Given the description of an element on the screen output the (x, y) to click on. 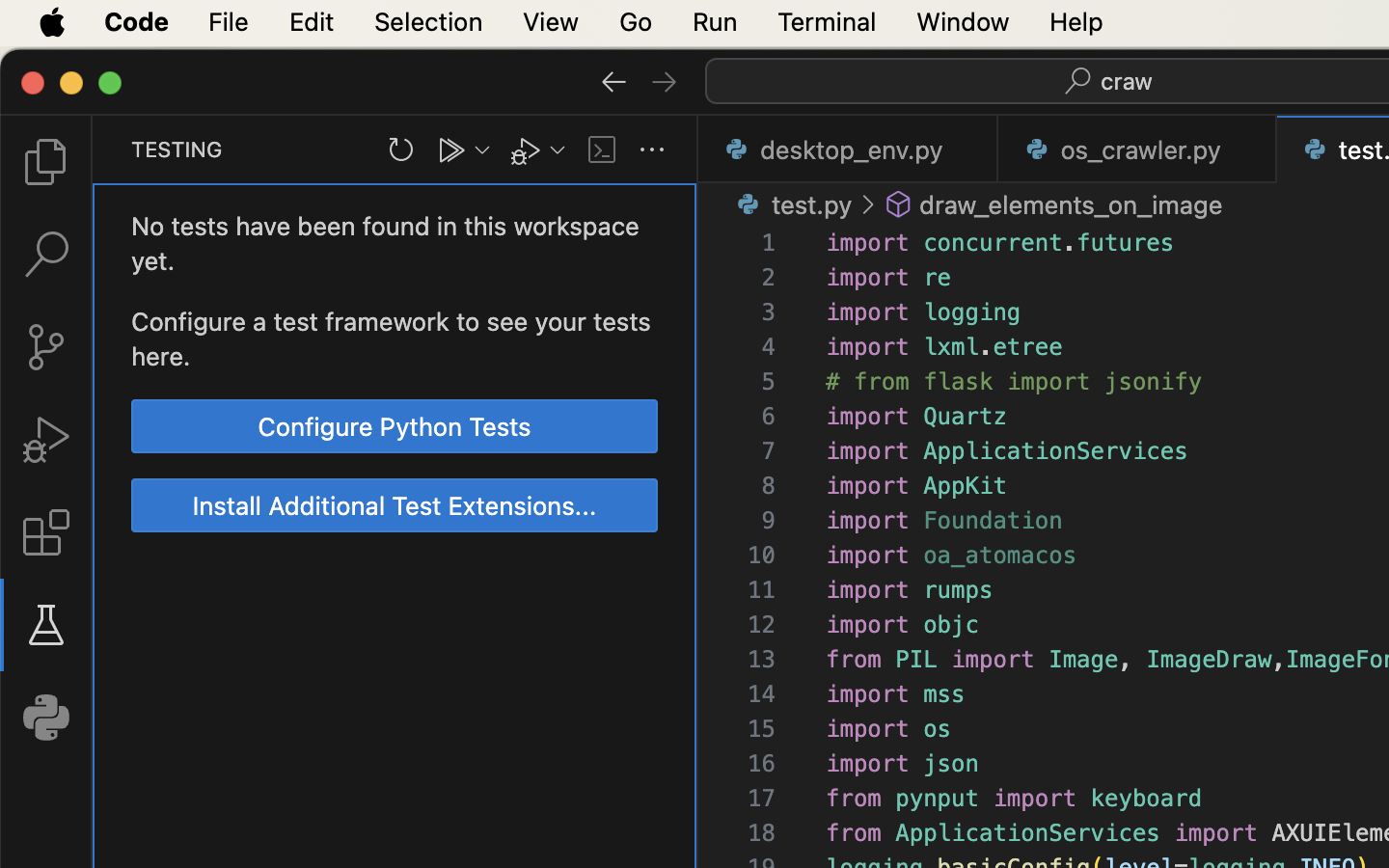
0  Element type: AXRadioButton (46, 439)
0  Element type: AXRadioButton (46, 161)
0 desktop_env.py   Element type: AXRadioButton (848, 149)
draw_elements_on_image Element type: AXGroup (1071, 204)
TESTING Element type: AXStaticText (177, 149)
